Given the description of an element on the screen output the (x, y) to click on. 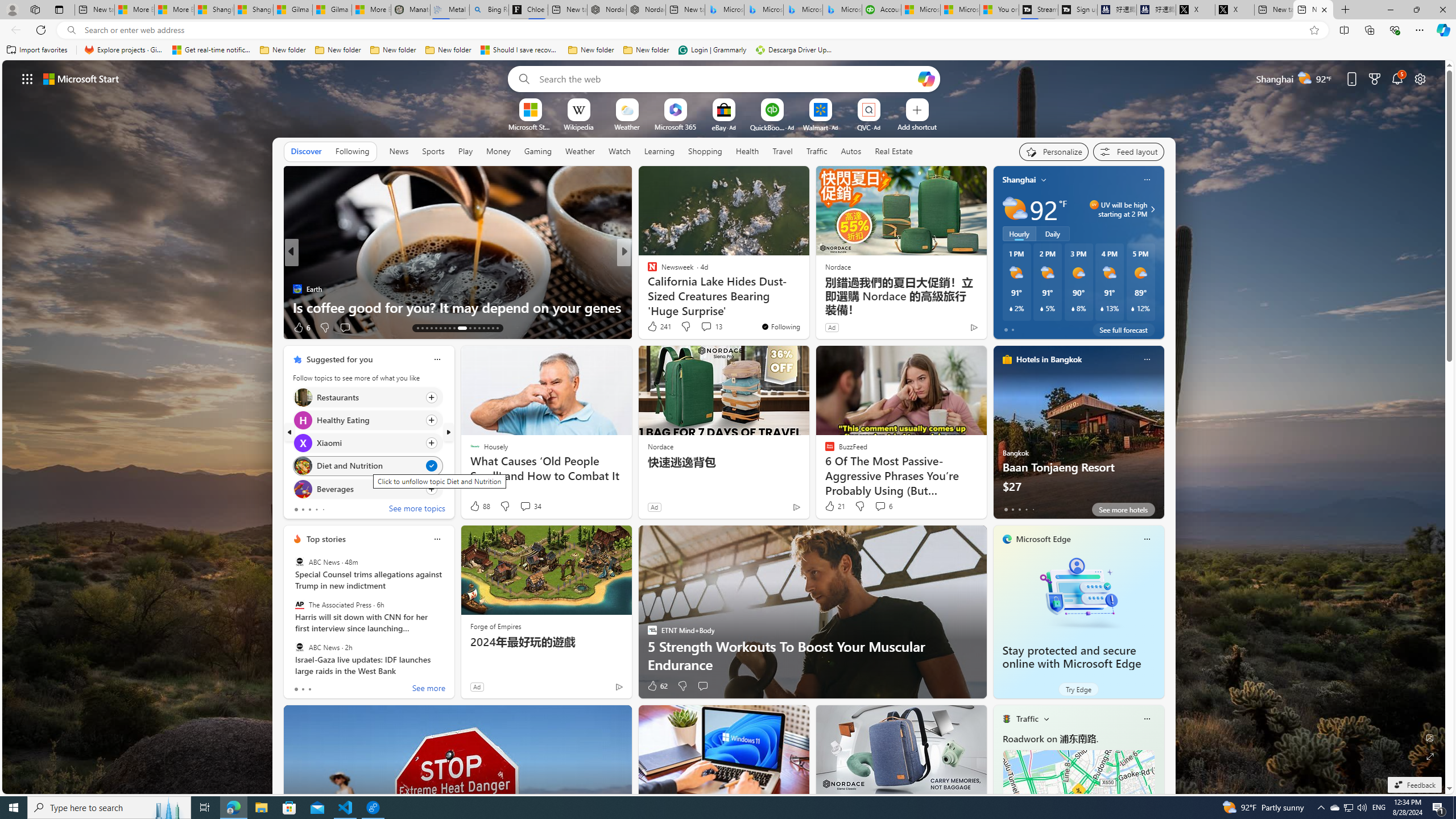
Open Copilot (926, 78)
Georgia quarterback commit to miss season with knee injury (807, 298)
View comments 13 Comment (705, 326)
Personalize your feed" (1054, 151)
Discover (306, 151)
Try Edge (1078, 689)
Search icon (70, 29)
AutomationID: tab-15 (426, 328)
UV will be high starting at 2 PM (1150, 208)
CBS News (Video) (647, 270)
Discover (306, 151)
Nordace (659, 446)
